Given the description of an element on the screen output the (x, y) to click on. 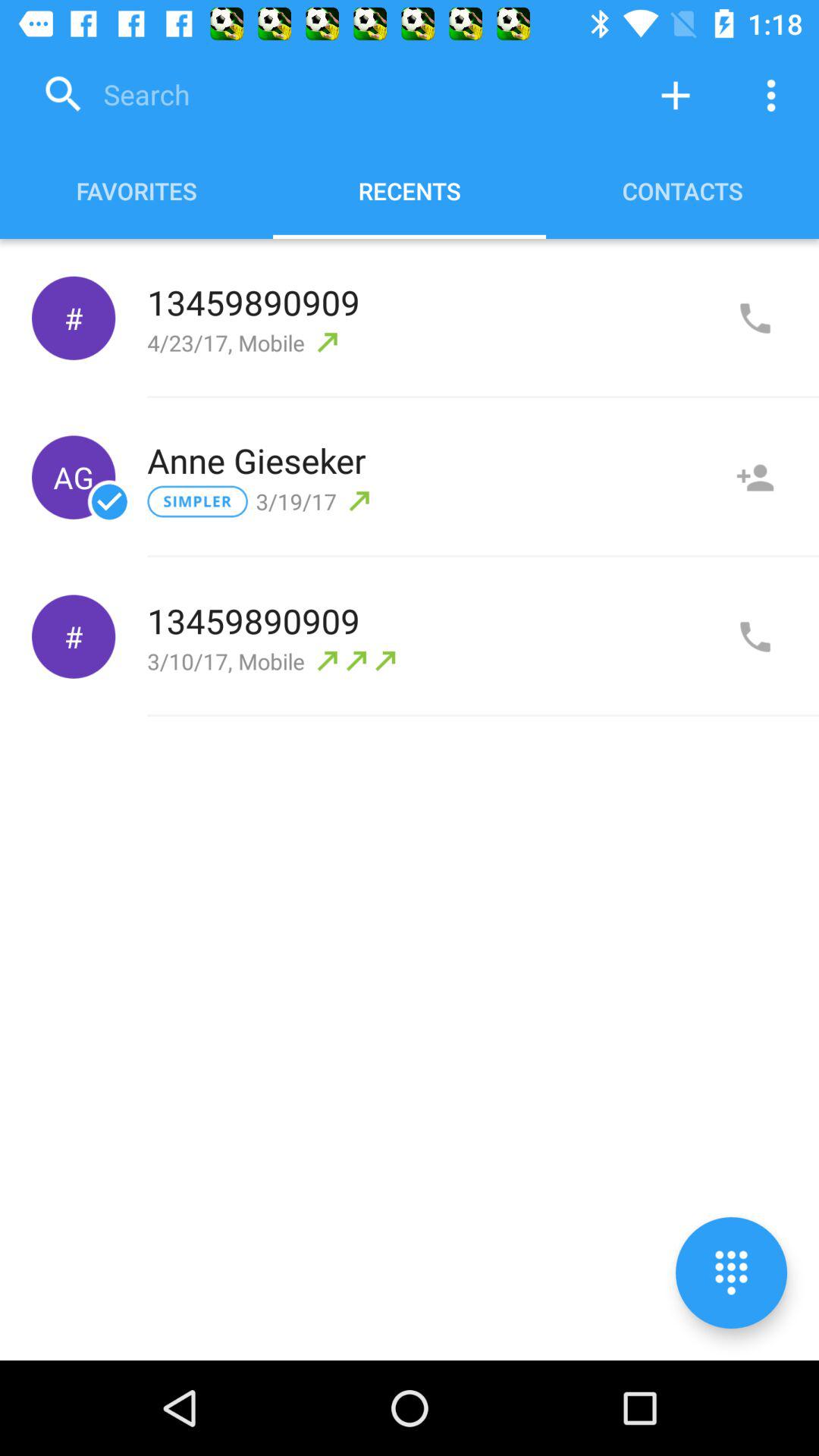
numeric keyboard (731, 1272)
